Given the description of an element on the screen output the (x, y) to click on. 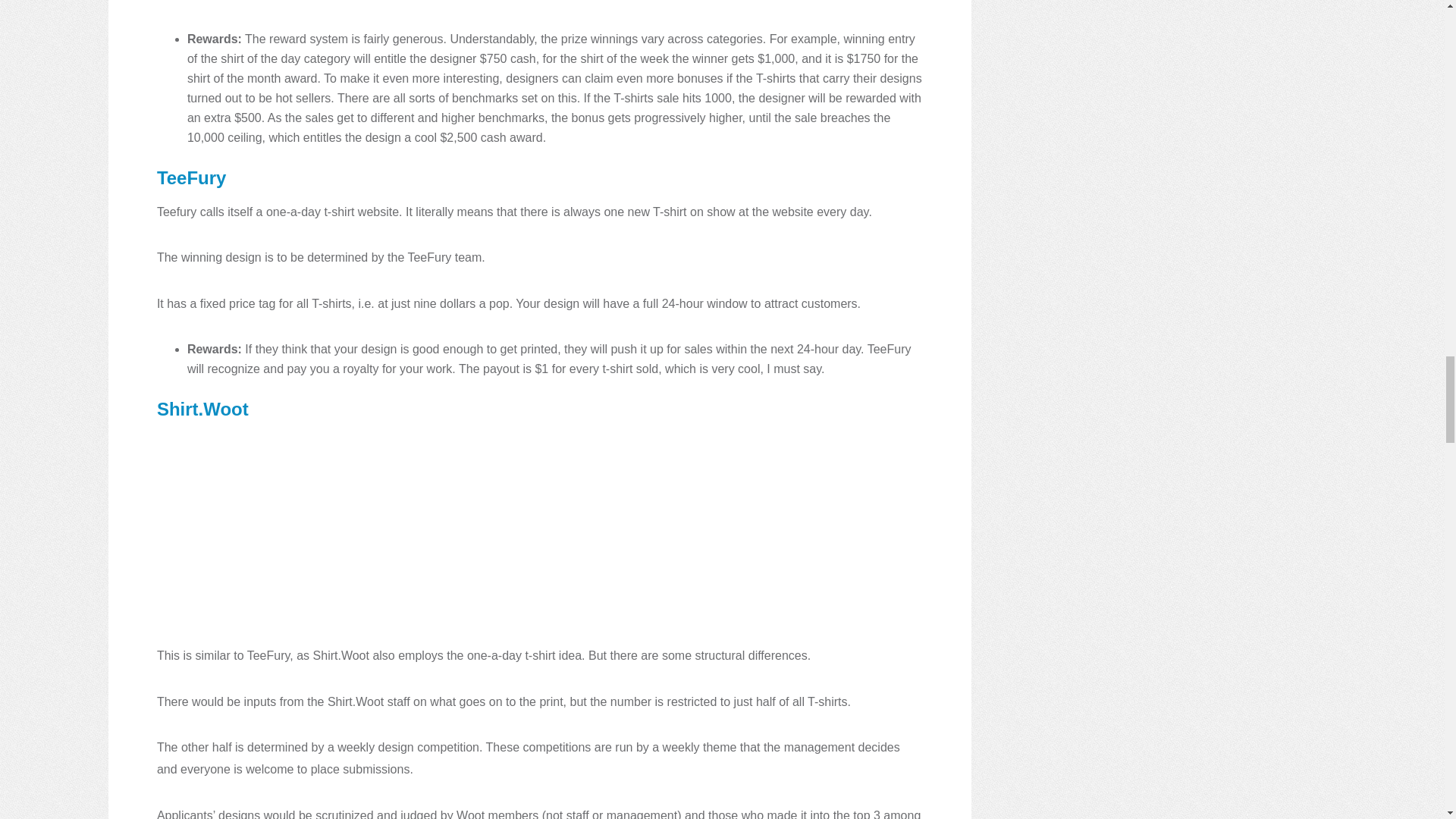
TeeFury (192, 177)
Shirt.Woot (202, 408)
